Given the description of an element on the screen output the (x, y) to click on. 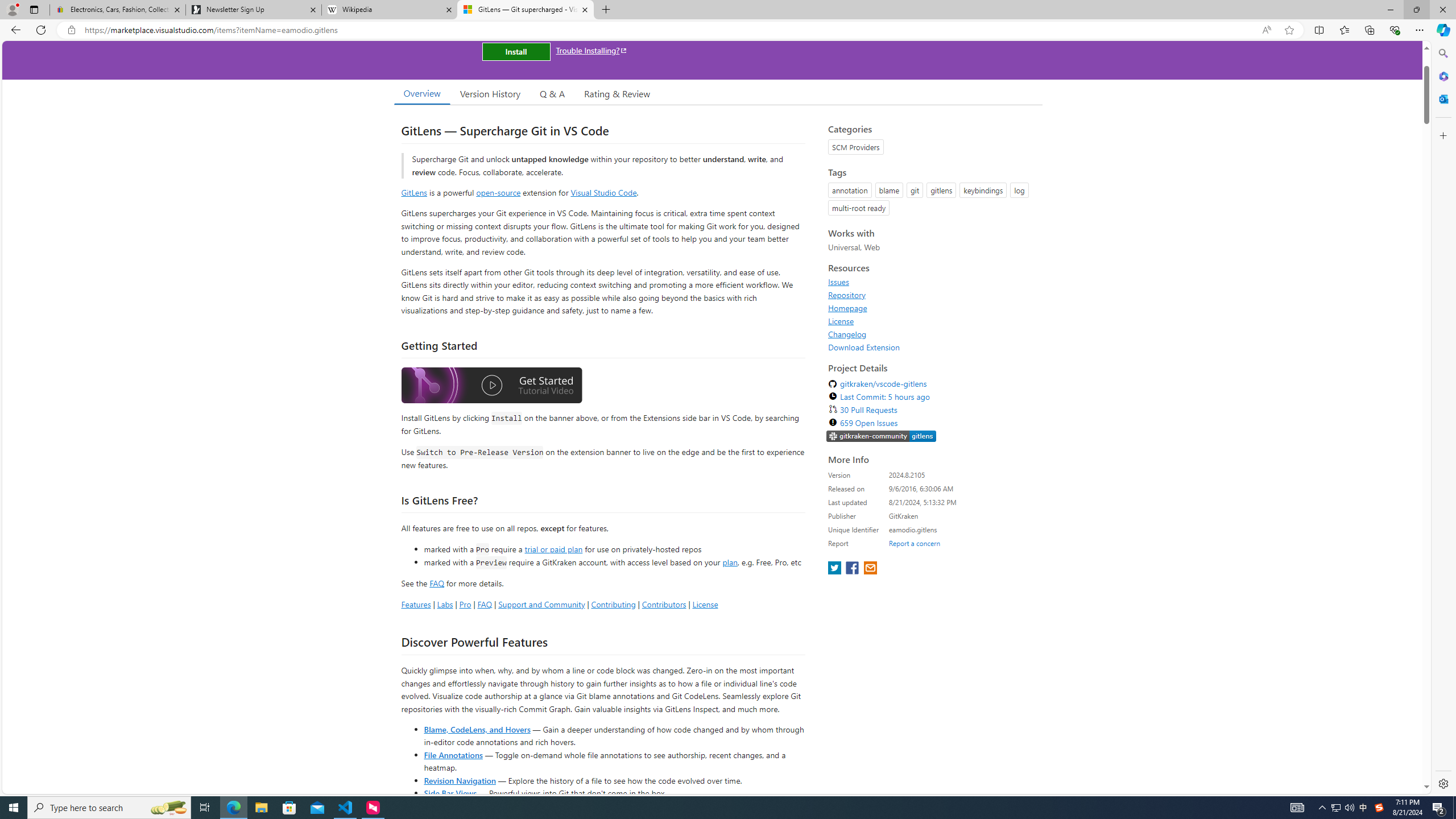
Contributing (613, 603)
Repository (847, 294)
Issues (838, 281)
Changelog (847, 333)
Homepage (847, 307)
Issues (931, 281)
Changelog (931, 333)
Overview (421, 92)
